Given the description of an element on the screen output the (x, y) to click on. 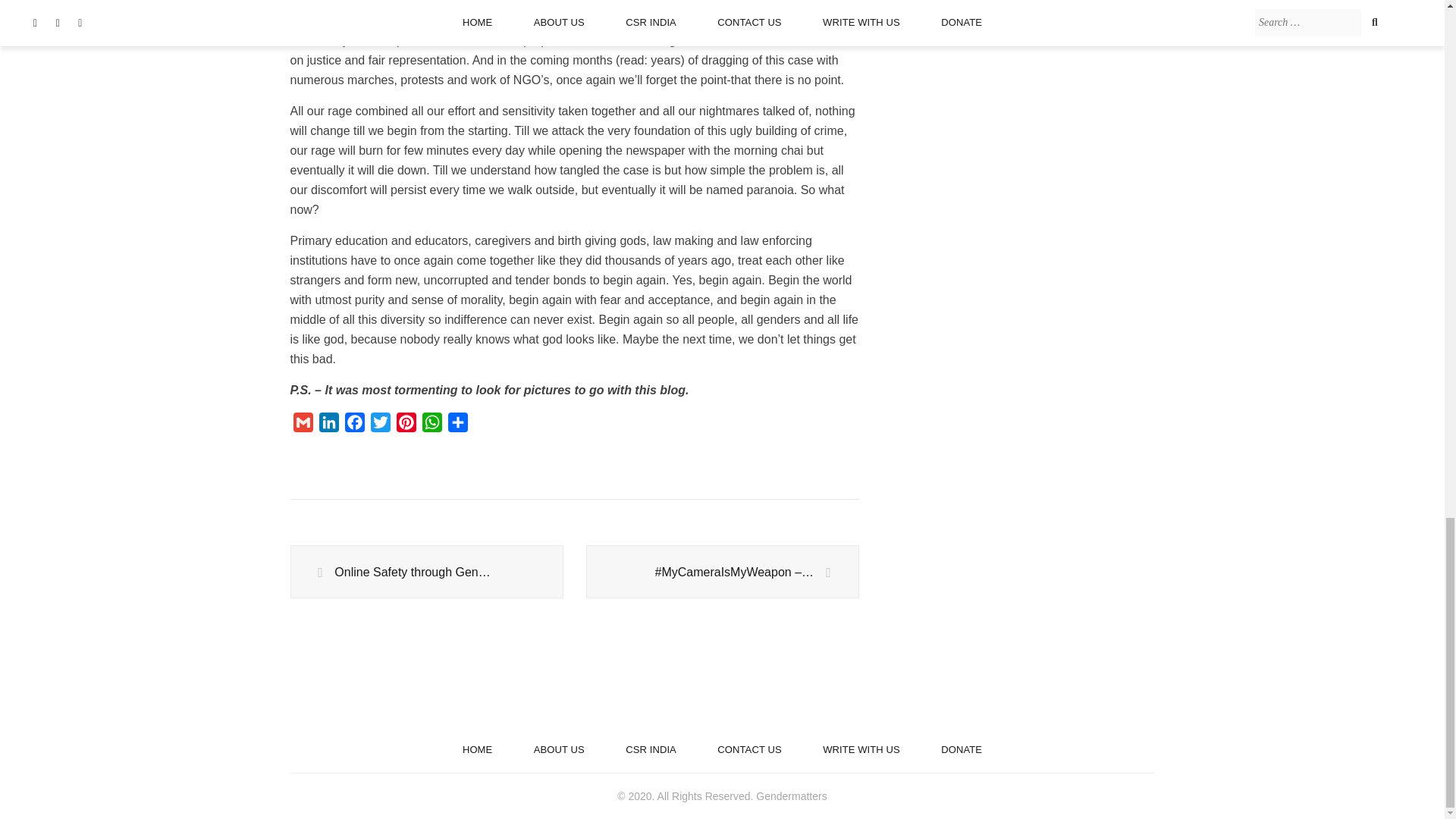
Pinterest (406, 425)
WhatsApp (431, 425)
LinkedIn (327, 425)
Gmail (302, 425)
LinkedIn (327, 425)
Pinterest (406, 425)
Gmail (302, 425)
Share (457, 425)
WhatsApp (431, 425)
Facebook (353, 425)
Twitter (379, 425)
Twitter (379, 425)
Facebook (353, 425)
